Given the description of an element on the screen output the (x, y) to click on. 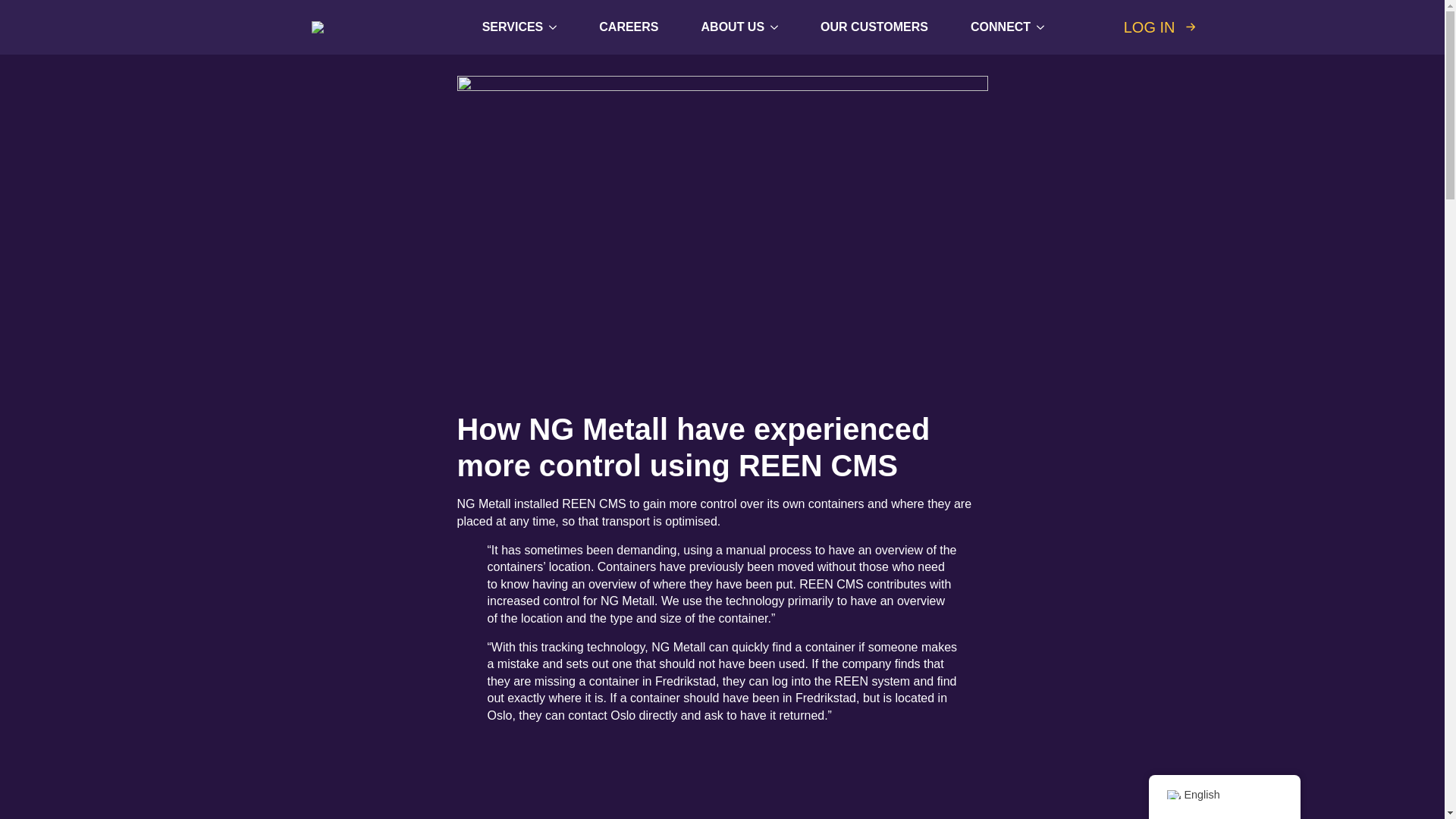
SERVICES (506, 27)
English (1172, 794)
OUR CUSTOMERS (874, 27)
CONNECT (994, 27)
NG Metall using REEN CMS for Control (722, 777)
ABOUT US (726, 27)
LOG IN (1161, 27)
CAREERS (627, 27)
